Given the description of an element on the screen output the (x, y) to click on. 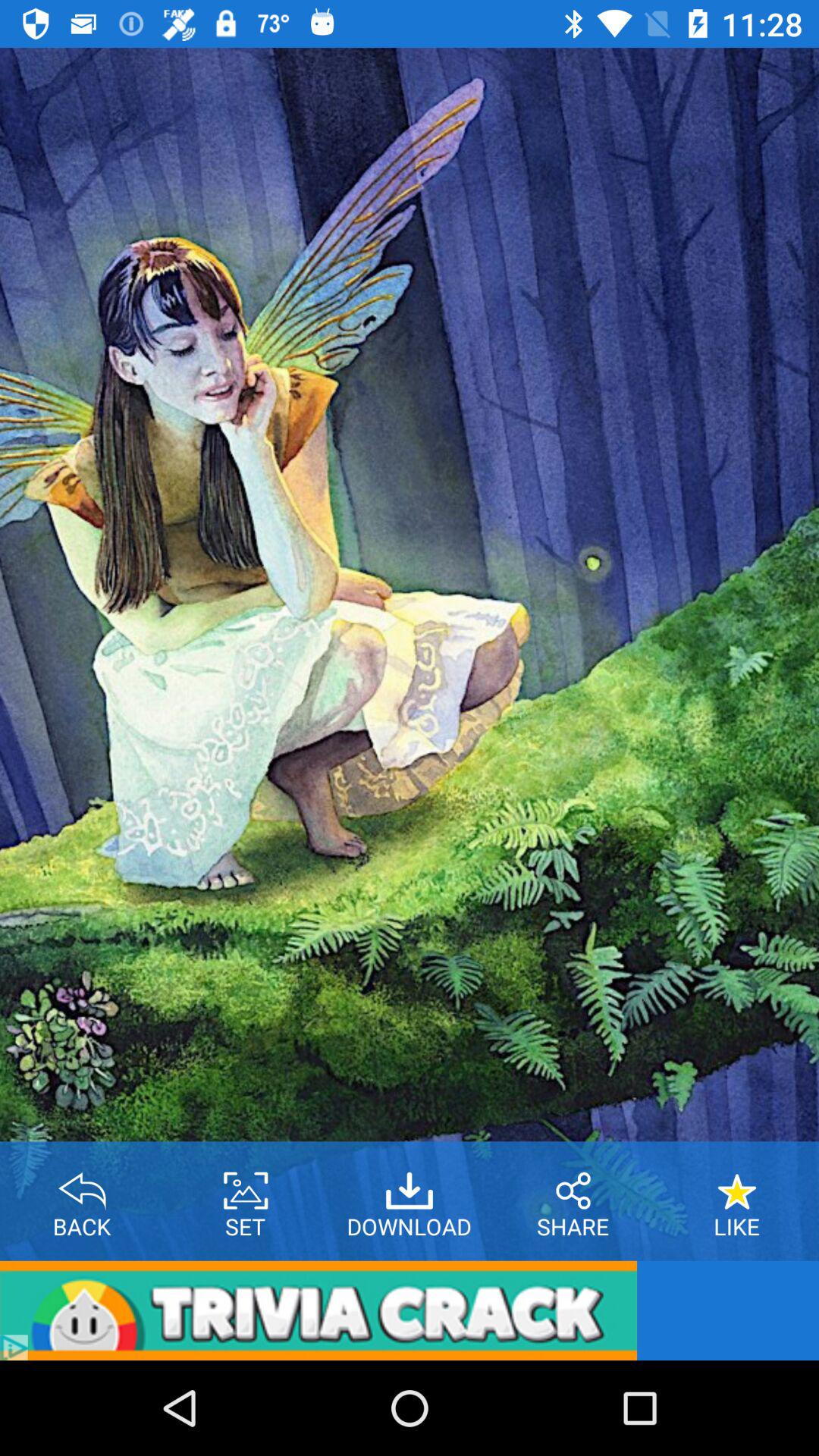
set as background (245, 1185)
